Given the description of an element on the screen output the (x, y) to click on. 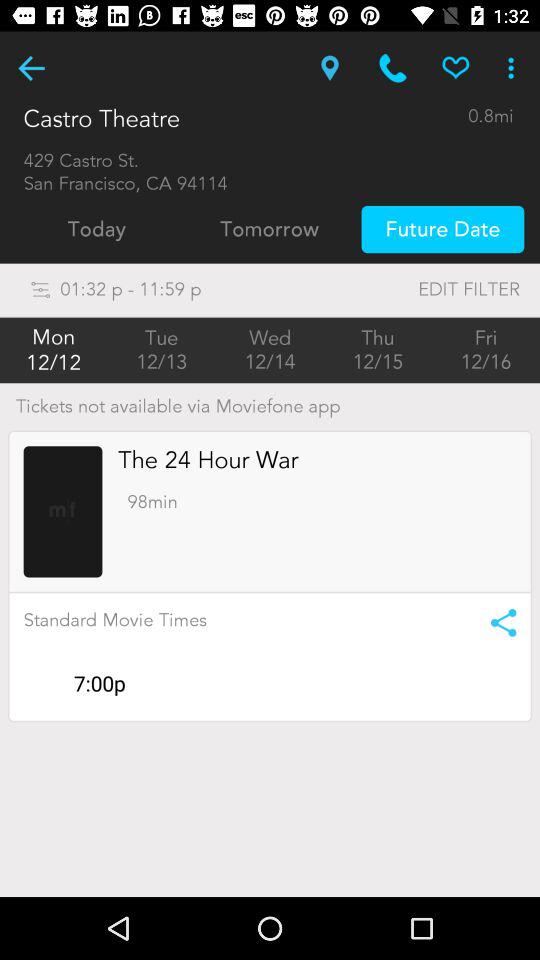
share (496, 622)
